Given the description of an element on the screen output the (x, y) to click on. 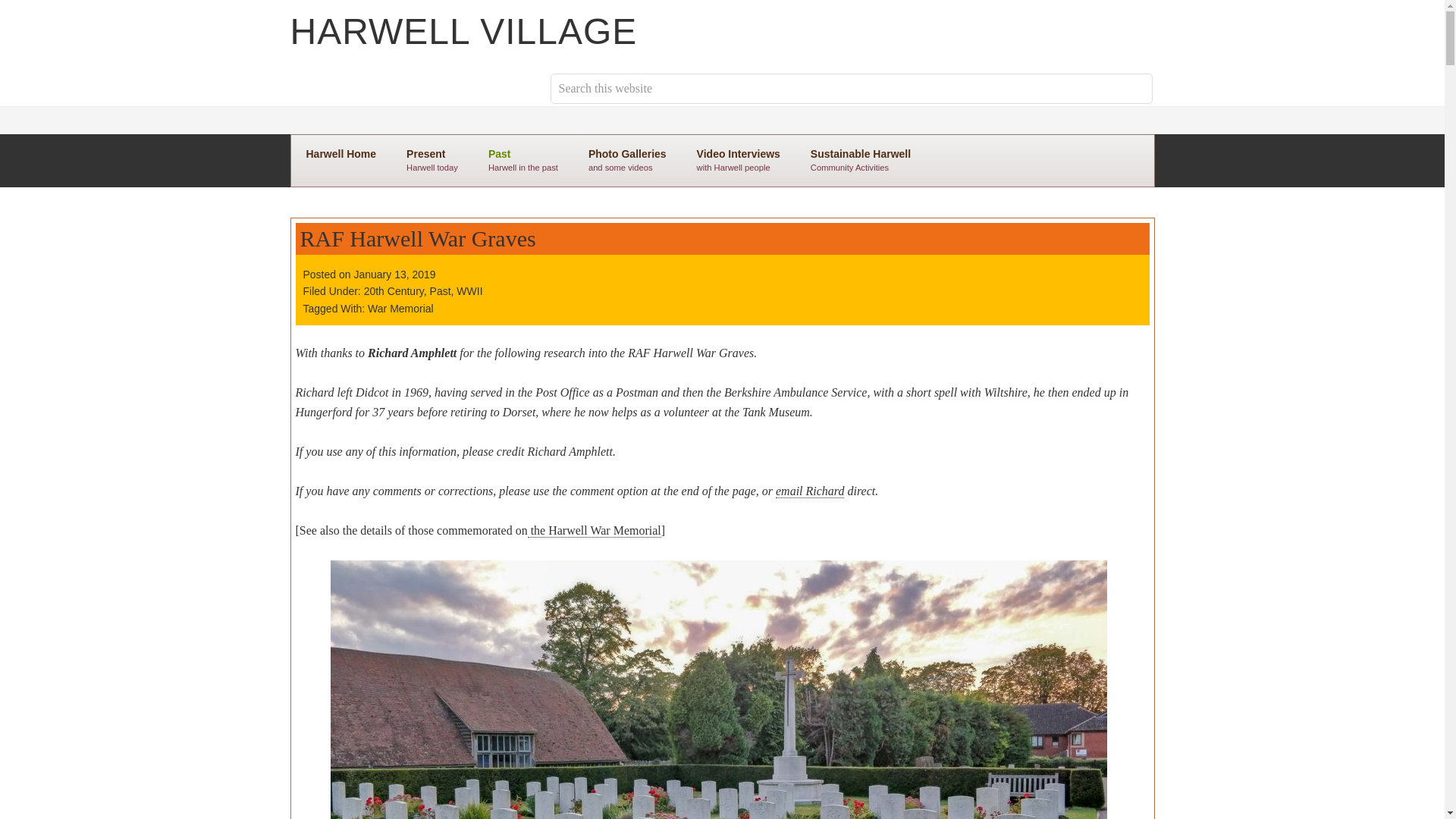
email Richard (810, 490)
War Memorial (400, 308)
20th Century (393, 291)
the Harwell War Memorial (594, 530)
Past (440, 291)
HARWELL VILLAGE (463, 31)
Harwell Home (341, 153)
WWII (469, 291)
